Given the description of an element on the screen output the (x, y) to click on. 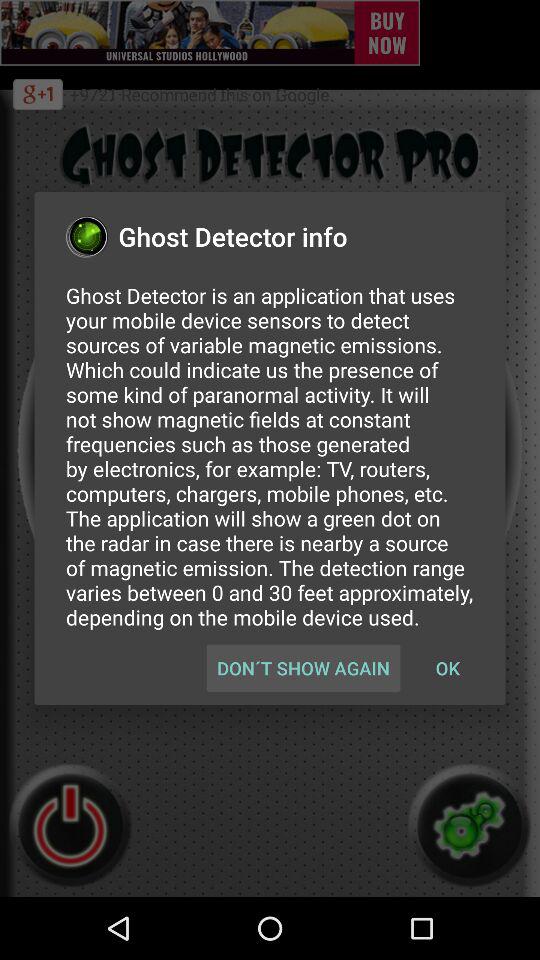
tap the ok (447, 667)
